Given the description of an element on the screen output the (x, y) to click on. 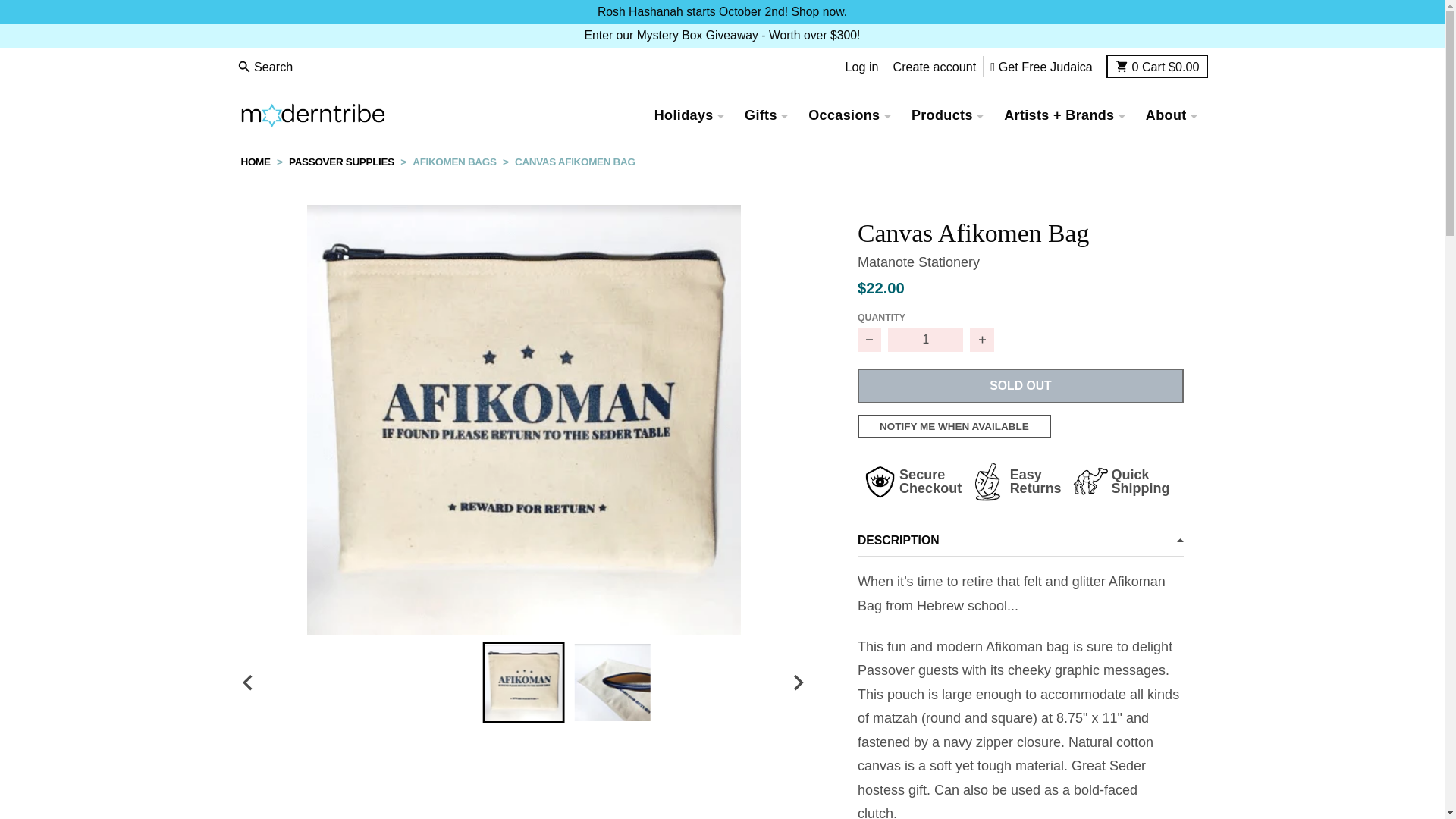
1 (925, 339)
Matanote Stationery (918, 262)
Search (266, 66)
Log in (861, 66)
Create account (934, 66)
